Given the description of an element on the screen output the (x, y) to click on. 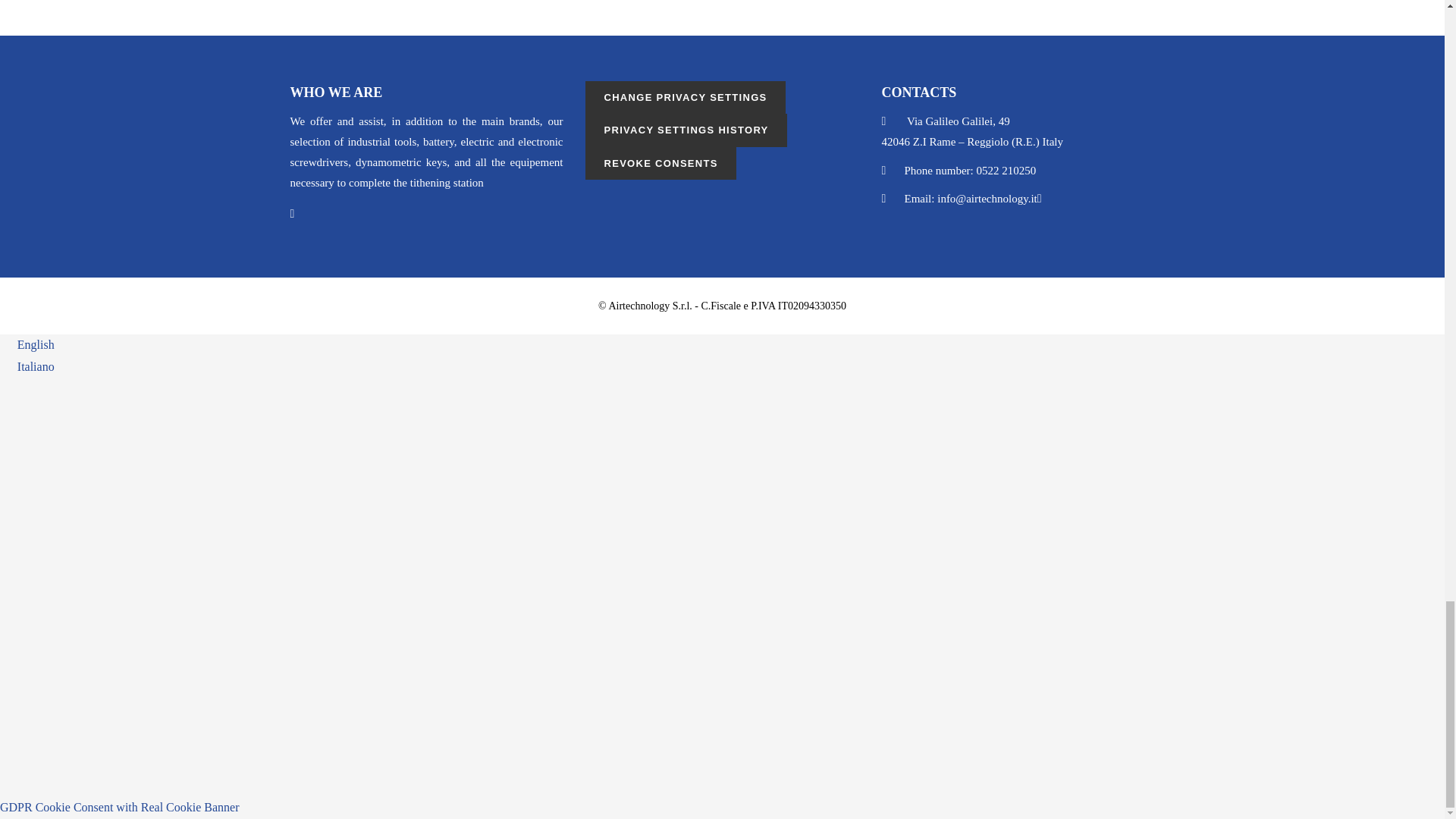
Italiano (27, 366)
Italiano (27, 366)
REVOKE CONSENTS (660, 163)
GDPR Cookie Consent with Real Cookie Banner (120, 807)
CHANGE PRIVACY SETTINGS (684, 97)
Send (318, 737)
English (27, 344)
English (27, 344)
PRIVACY SETTINGS HISTORY (685, 129)
